Given the description of an element on the screen output the (x, y) to click on. 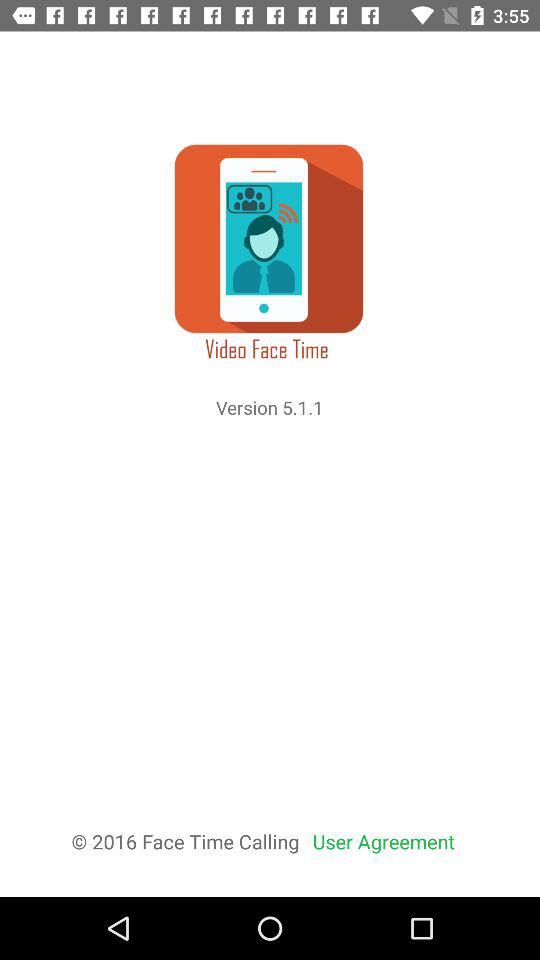
turn on item to the right of the 2016 face time (383, 841)
